Given the description of an element on the screen output the (x, y) to click on. 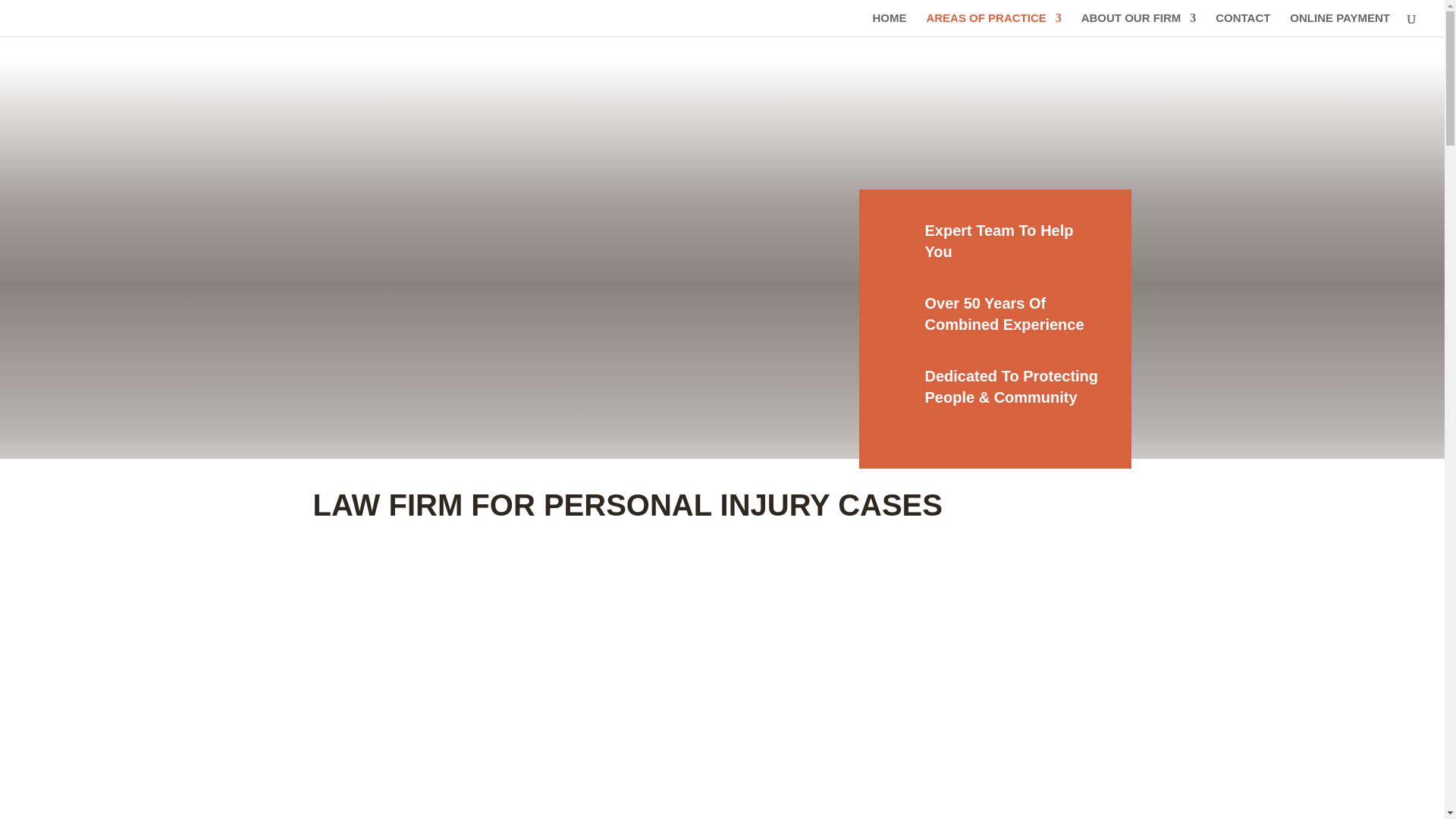
ONLINE PAYMENT (1340, 24)
CONTACT (1242, 24)
AREAS OF PRACTICE (993, 24)
ABOUT OUR FIRM (1138, 24)
HOME (889, 24)
